Given the description of an element on the screen output the (x, y) to click on. 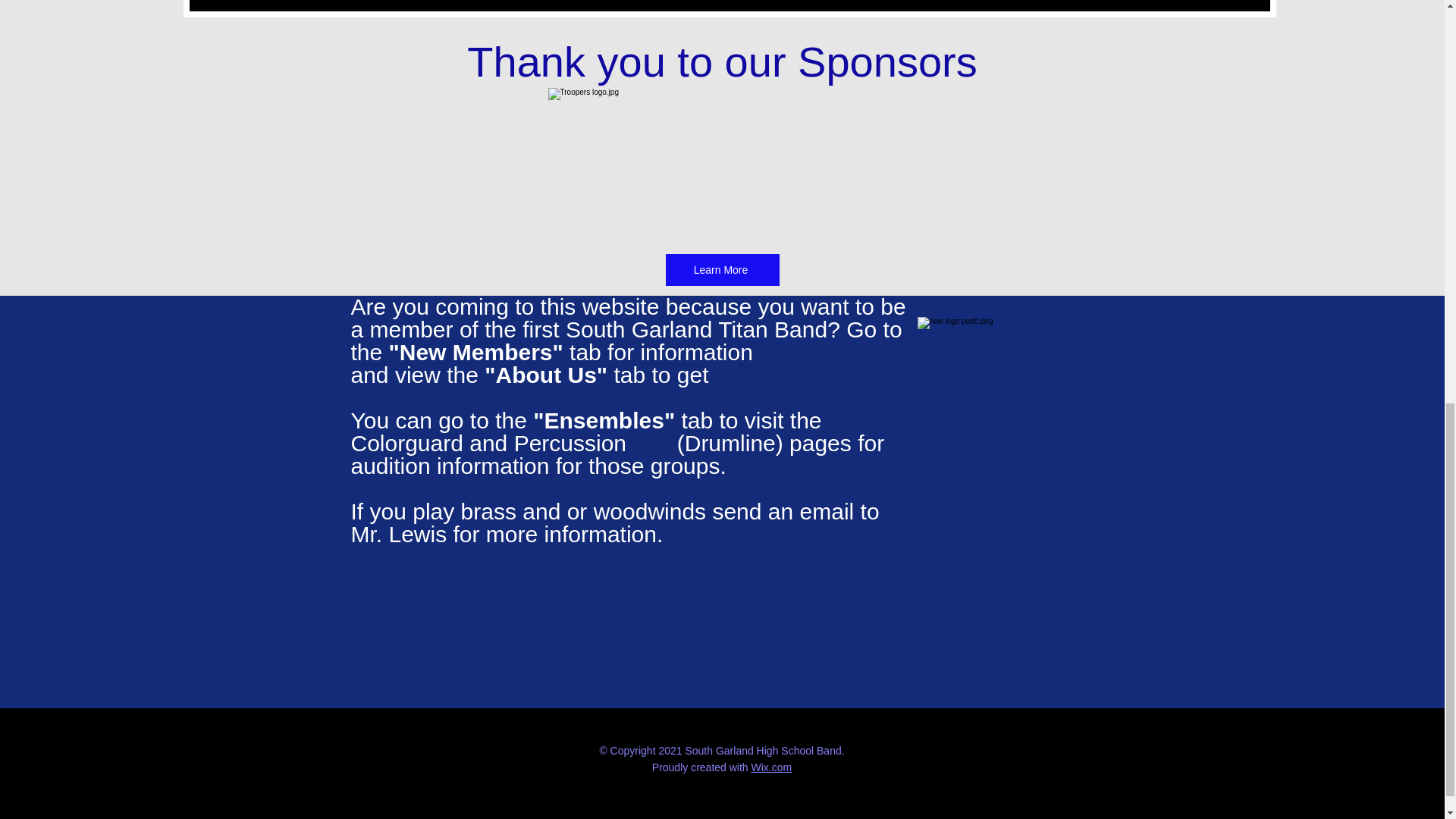
Wix.com (771, 767)
Learn More (721, 269)
